Given the description of an element on the screen output the (x, y) to click on. 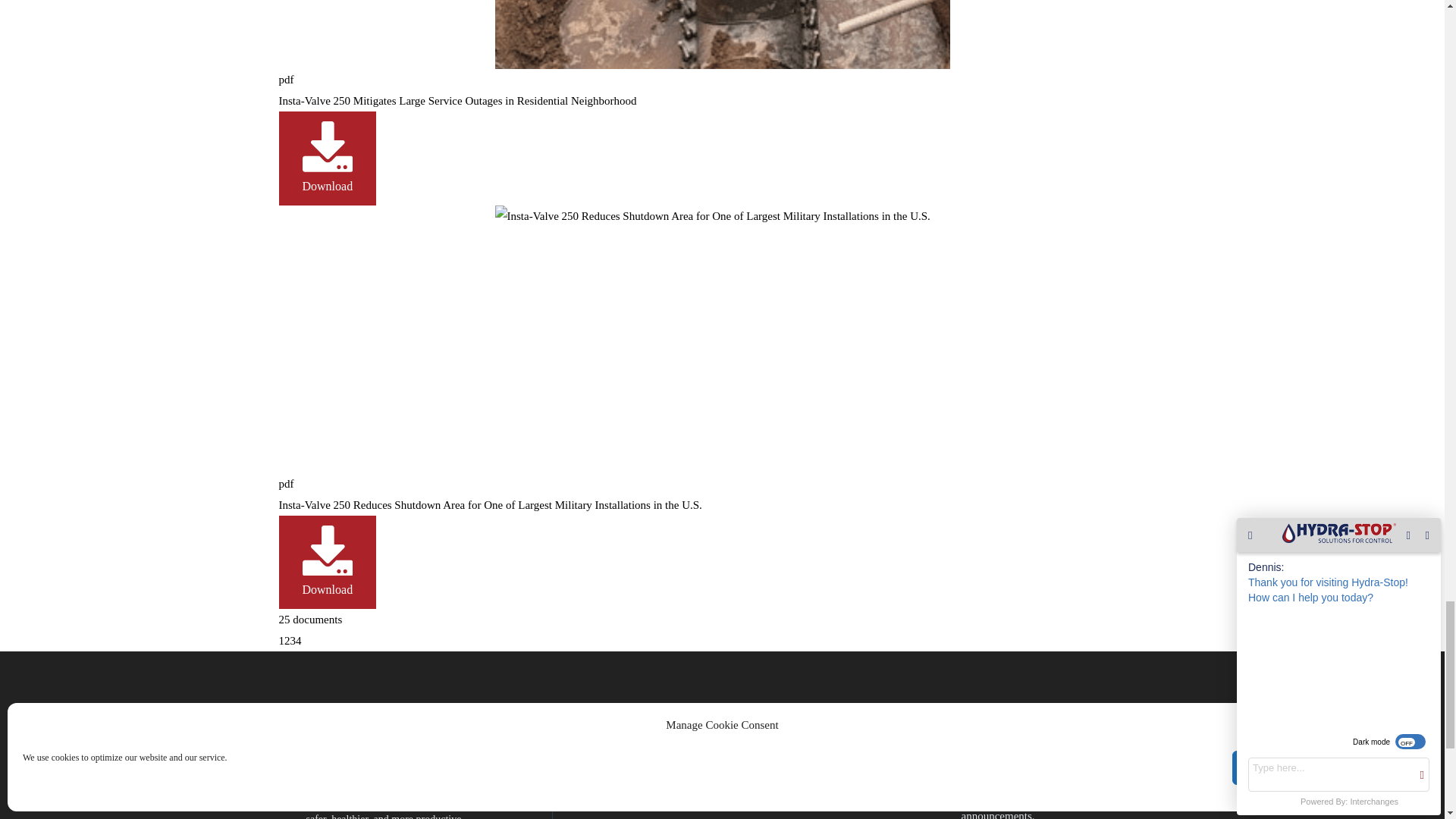
SuccessStory-HollySprings (722, 34)
